Given the description of an element on the screen output the (x, y) to click on. 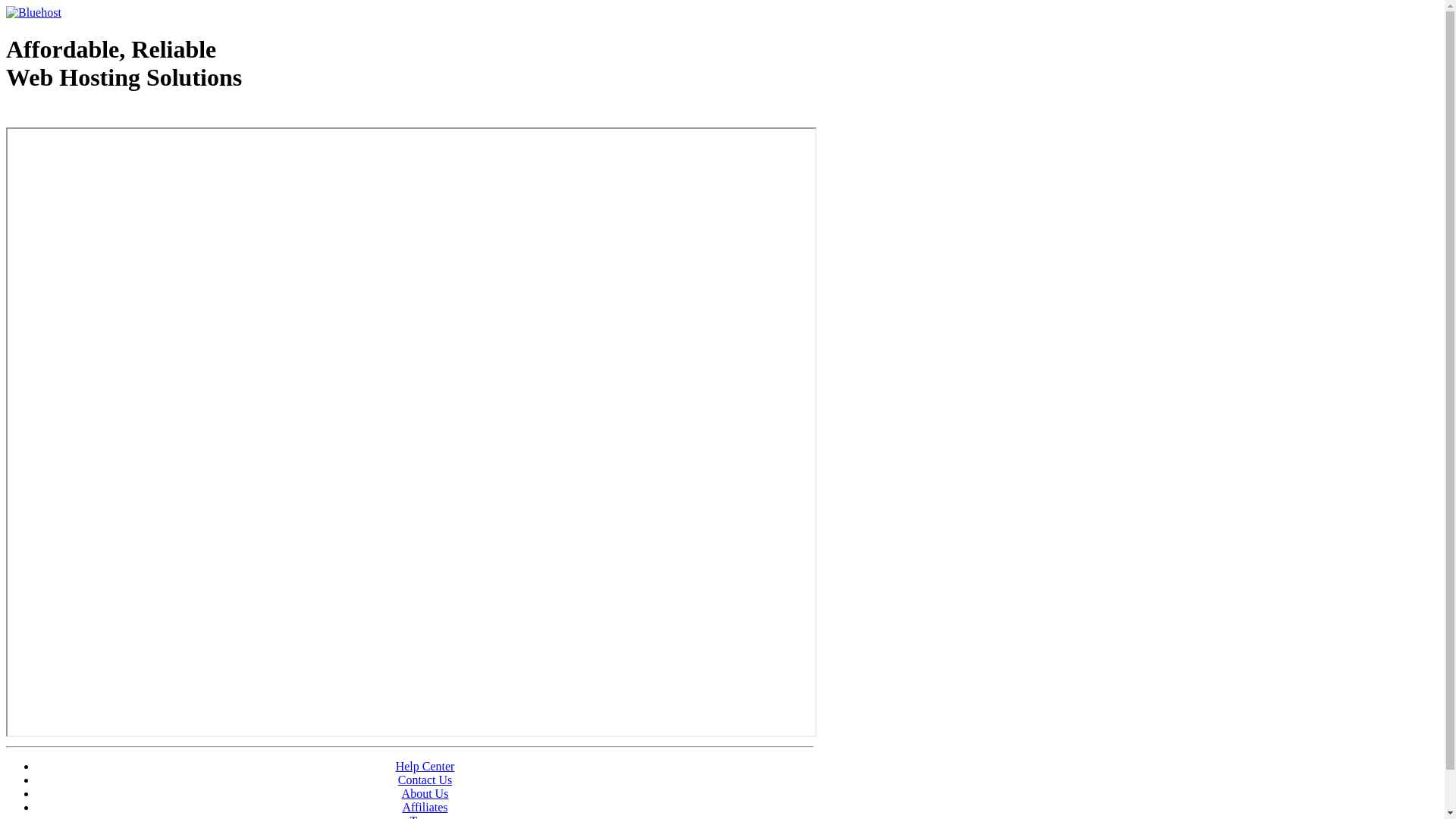
Web Hosting - courtesy of www.bluehost.com Element type: text (94, 115)
Help Center Element type: text (425, 765)
About Us Element type: text (424, 793)
Affiliates Element type: text (424, 806)
Contact Us Element type: text (425, 779)
